Given the description of an element on the screen output the (x, y) to click on. 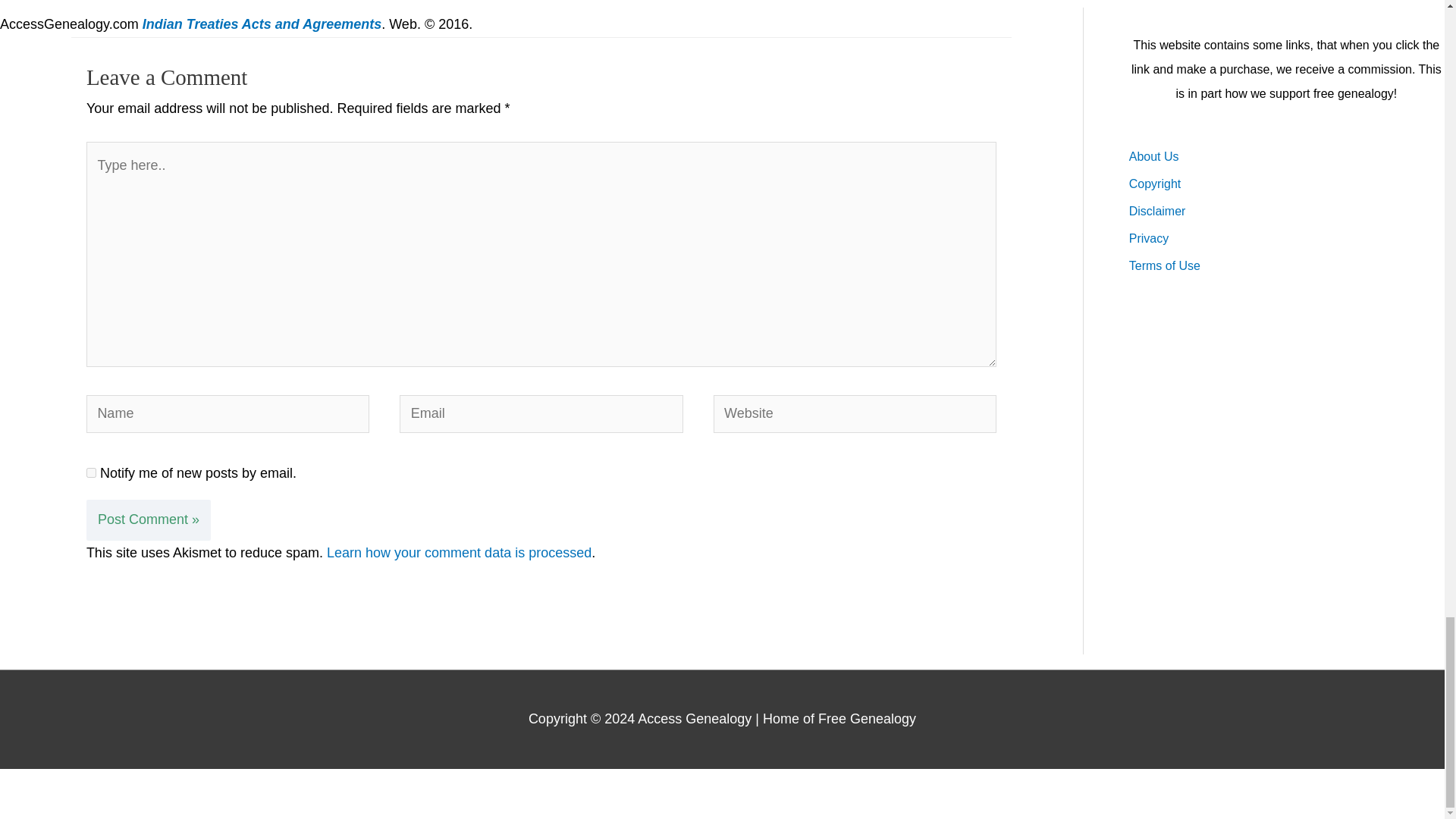
Learn how your comment data is processed (458, 552)
subscribe (90, 472)
Indian Treaties Acts and Agreements (261, 23)
